Given the description of an element on the screen output the (x, y) to click on. 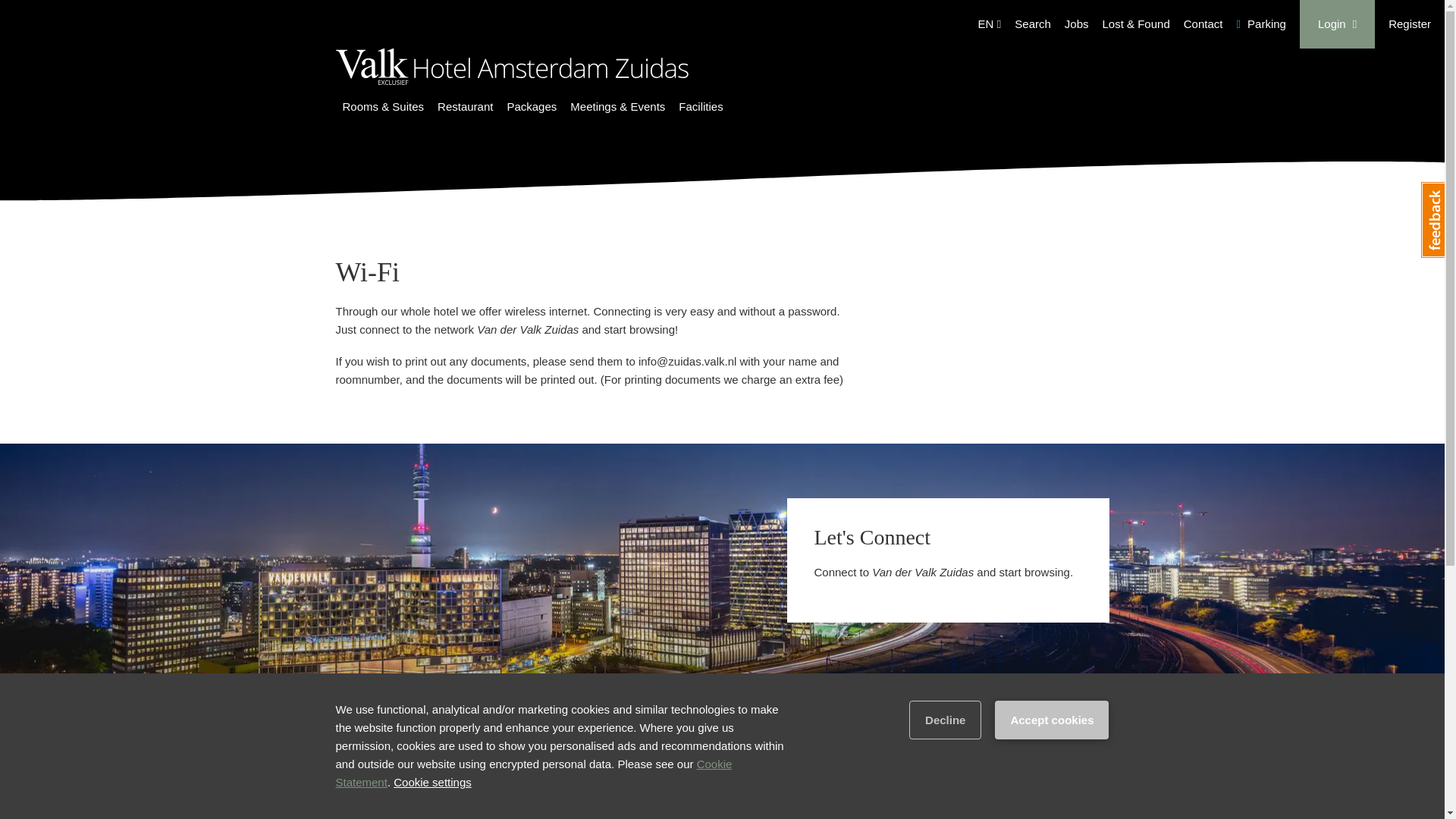
Register (1410, 23)
Hotel Amsterdam Zuidas  (510, 87)
EN (988, 24)
Decline (944, 720)
Cookie settings (432, 781)
Jobs (1076, 23)
Search (1032, 23)
Search (1032, 23)
Jobs (1076, 23)
Contact (1203, 23)
Cookie Statement (533, 772)
Parking (1260, 23)
Contact (1203, 23)
Packages (531, 108)
Restaurant (465, 108)
